Given the description of an element on the screen output the (x, y) to click on. 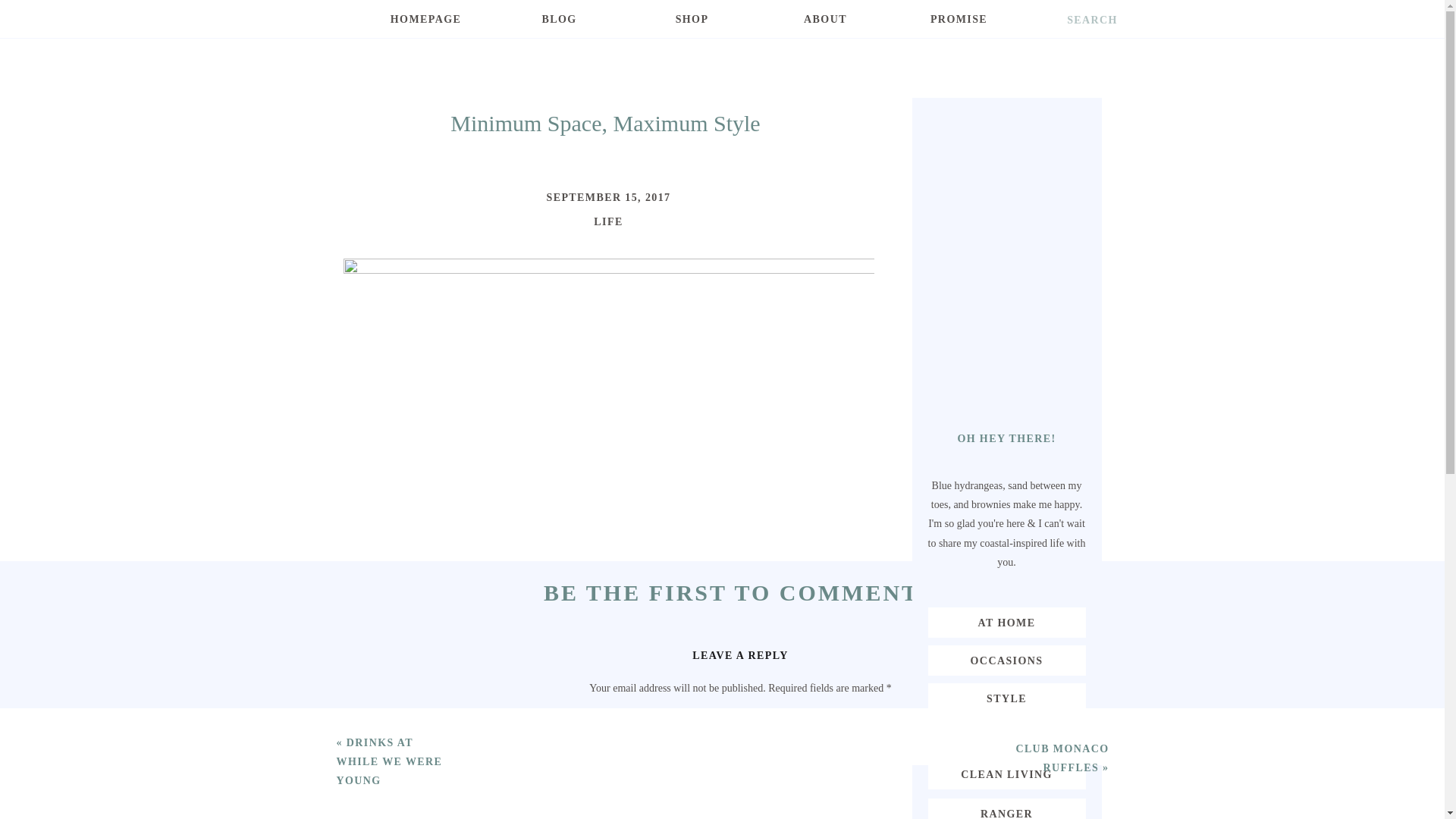
LIFE (608, 221)
HOMEPAGE (425, 28)
OCCASIONS (1006, 660)
RANGER (1006, 811)
DRINKS AT WHILE WE WERE YOUNG (389, 761)
STYLE (1006, 698)
TRAVEL (1006, 736)
BE THE FIRST TO COMMENT (730, 592)
CLUB MONACO RUFFLES (1061, 757)
BLOG (559, 28)
